Given the description of an element on the screen output the (x, y) to click on. 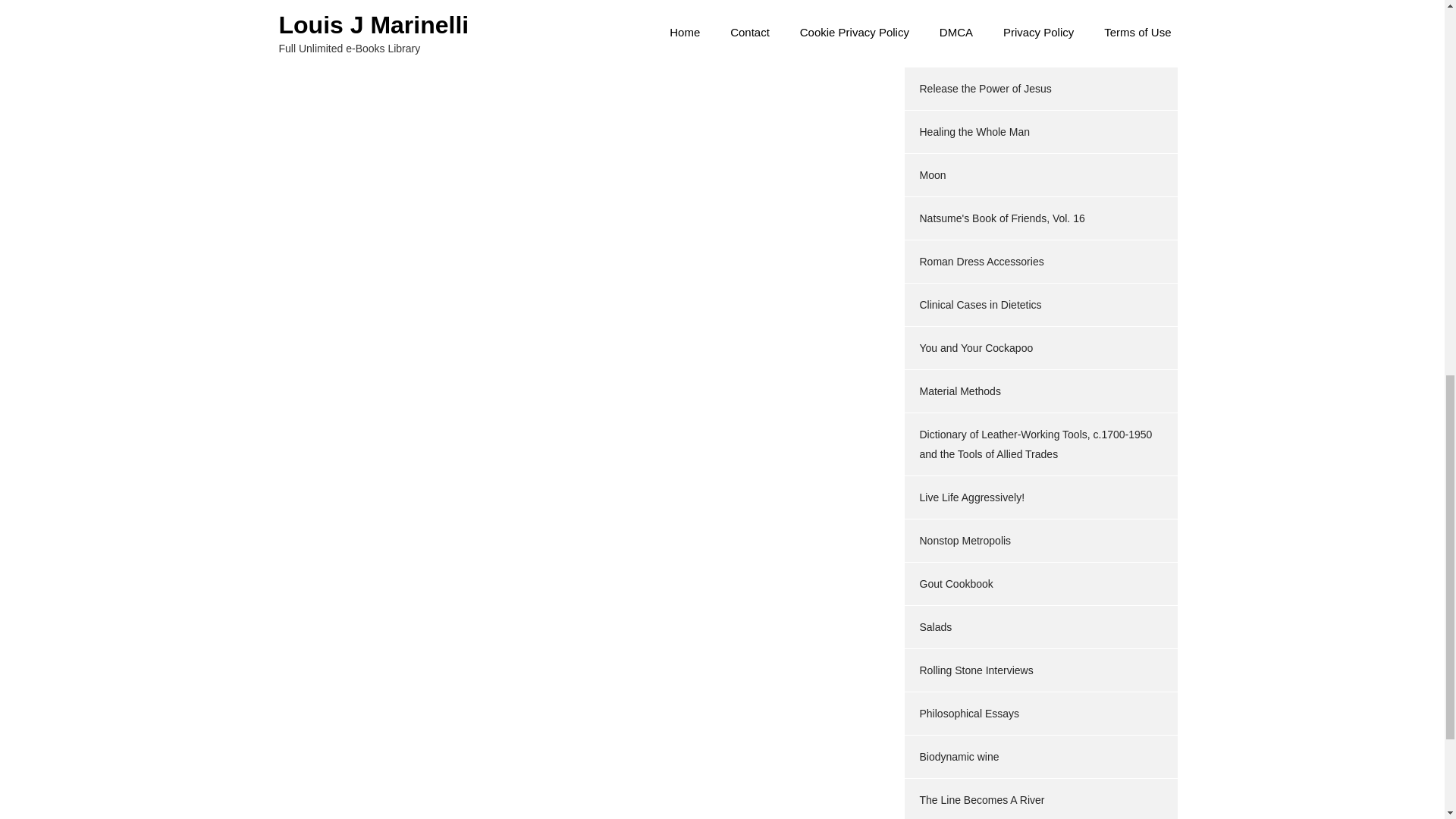
Healing the Whole Man (973, 132)
Natsume's Book of Friends, Vol. 16 (1001, 218)
You and Your Cockapoo (975, 347)
Moon (931, 174)
The Uses of Digital Literacy (983, 45)
Release the Power of Jesus (984, 88)
Clinical Cases in Dietetics (979, 304)
Roman Dress Accessories (980, 261)
Oxford Junior Workbooks: Book 3 (997, 4)
